Given the description of an element on the screen output the (x, y) to click on. 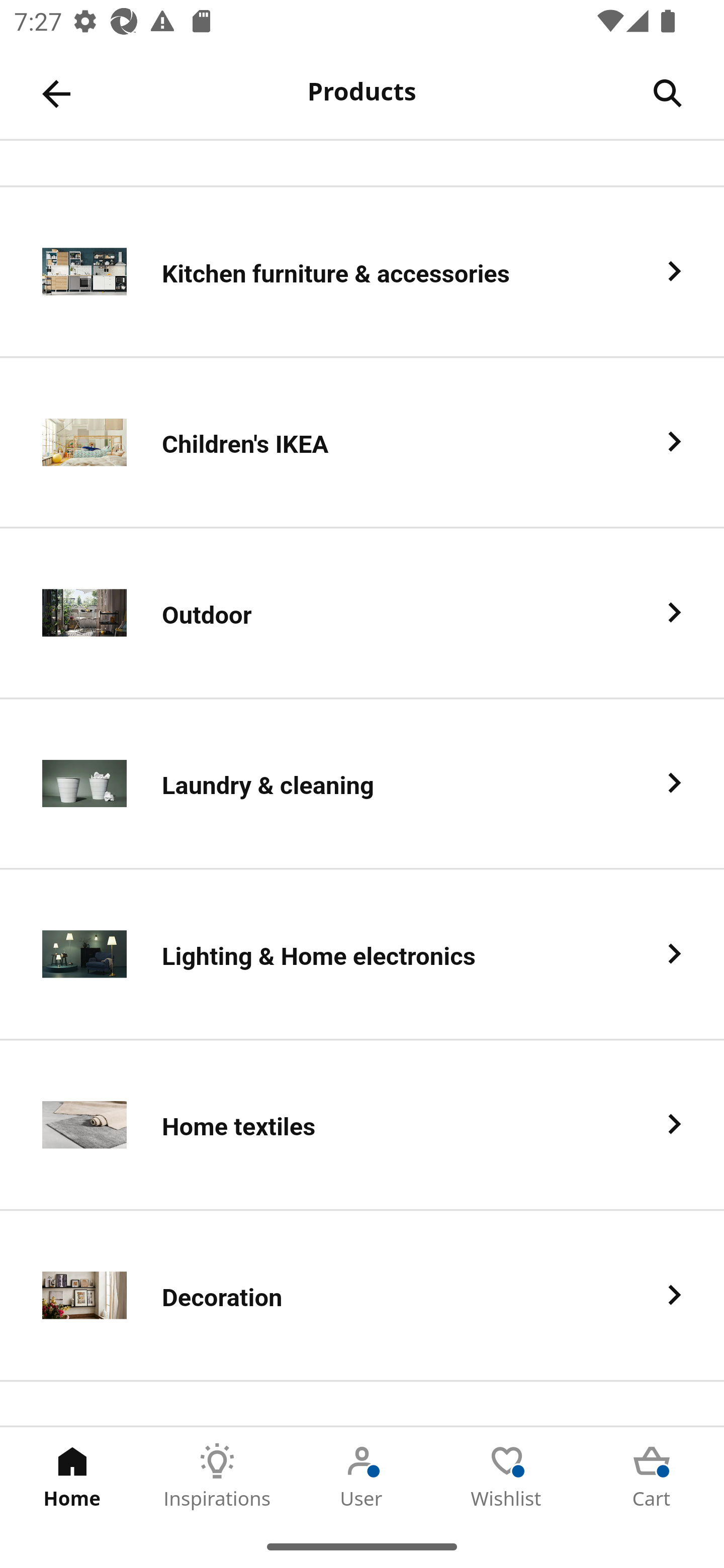
Kitchen furniture & accessories (362, 272)
Children's IKEA (362, 442)
Outdoor (362, 613)
Laundry & cleaning (362, 784)
Lighting & Home electronics (362, 954)
Home textiles (362, 1124)
Decoration (362, 1295)
Home
Tab 1 of 5 (72, 1476)
Inspirations
Tab 2 of 5 (216, 1476)
User
Tab 3 of 5 (361, 1476)
Wishlist
Tab 4 of 5 (506, 1476)
Cart
Tab 5 of 5 (651, 1476)
